Given the description of an element on the screen output the (x, y) to click on. 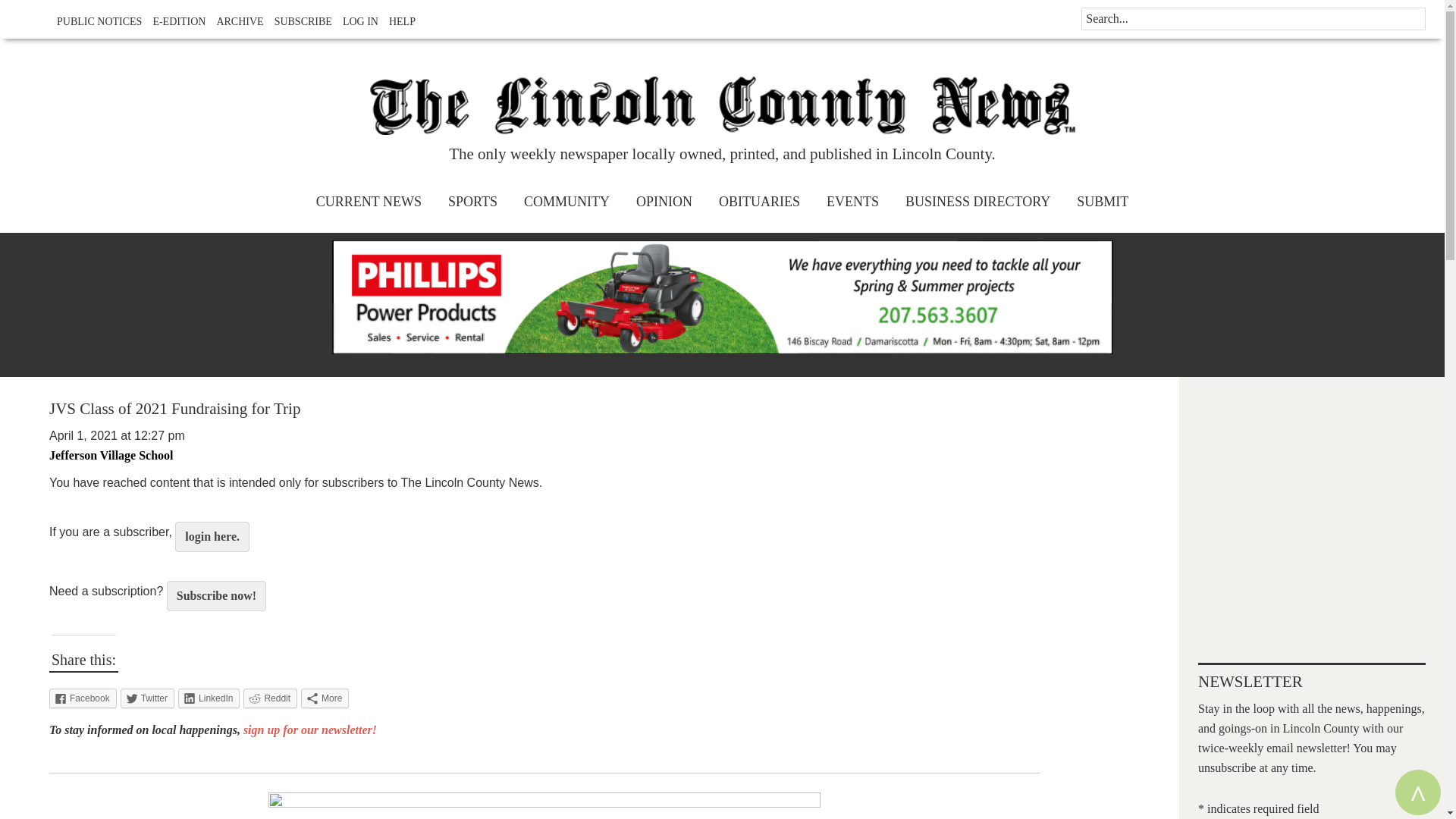
SUBMIT (1102, 201)
COMMUNITY (566, 201)
Click to share on Twitter (147, 698)
EVENTS (852, 201)
OBITUARIES (758, 201)
Click to share on Reddit (270, 698)
SUBSCRIBE (298, 21)
Jefferson Village School (111, 454)
SPORTS (472, 201)
HELP (397, 21)
